Given the description of an element on the screen output the (x, y) to click on. 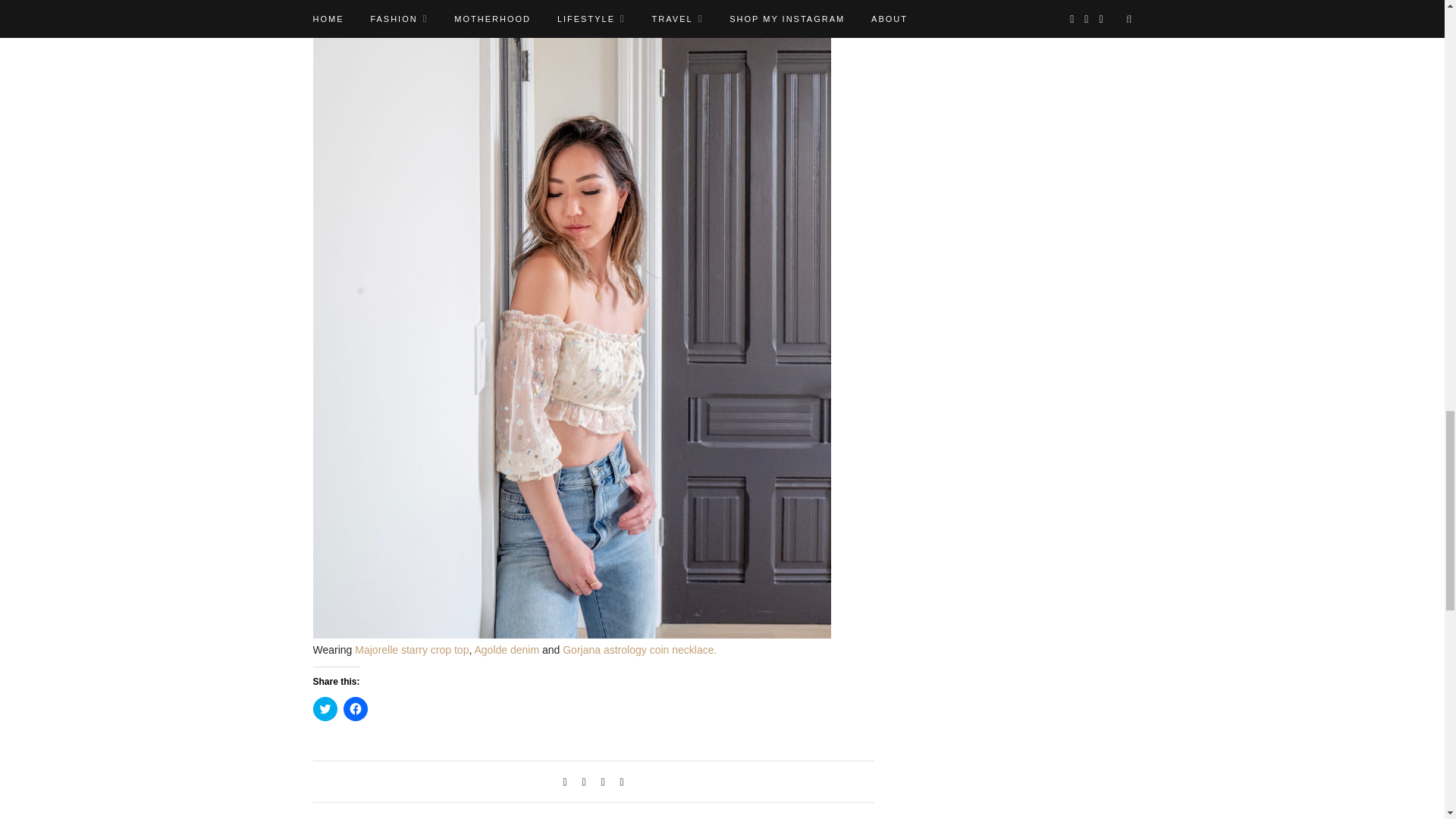
Click to share on Facebook (354, 708)
Click to share on Twitter (324, 708)
